Given the description of an element on the screen output the (x, y) to click on. 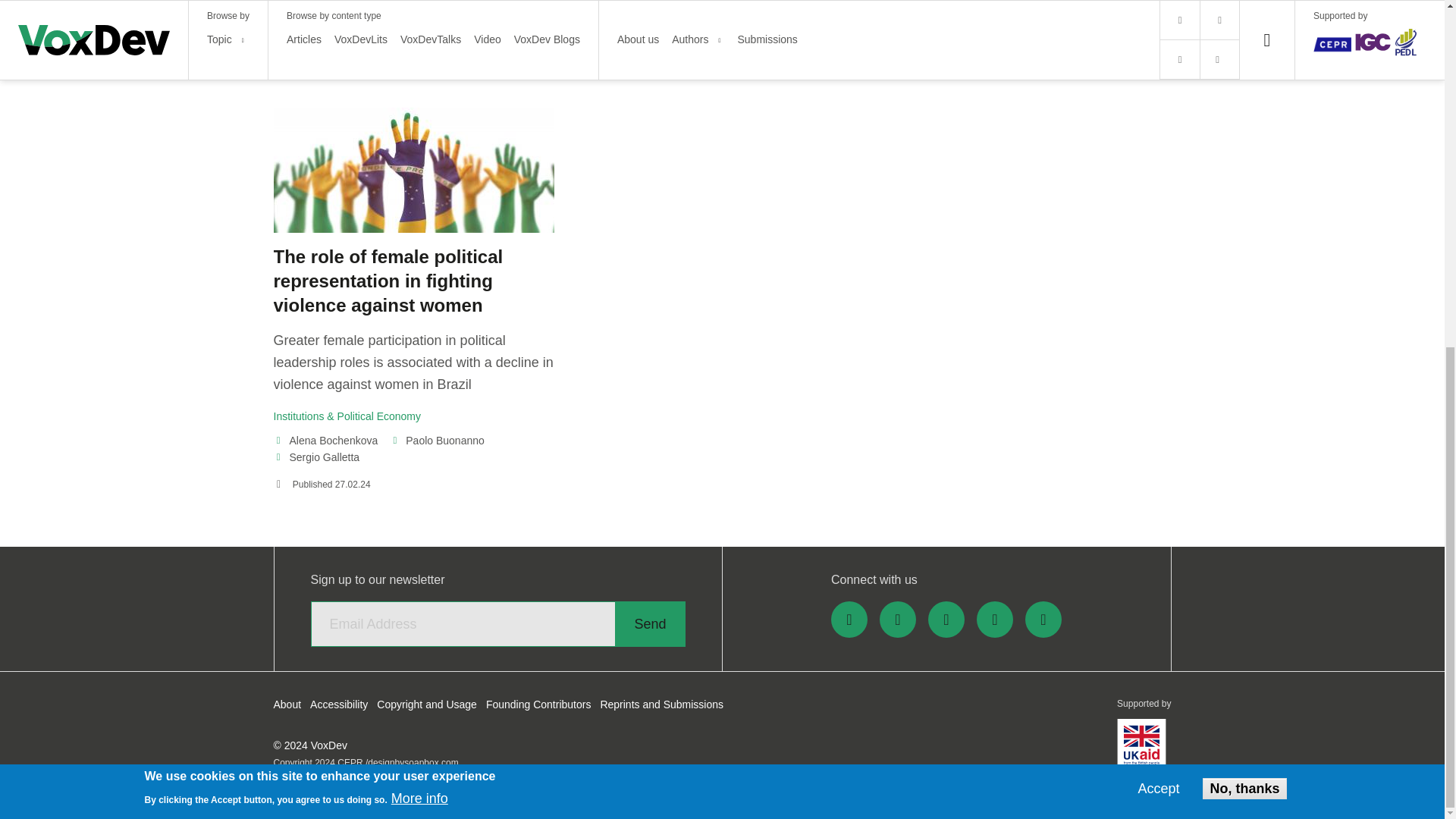
Sergio Galletta (316, 456)
Send (649, 624)
Paolo Buonanno (437, 439)
Send (649, 624)
Alena Bochenkova (325, 439)
